Given the description of an element on the screen output the (x, y) to click on. 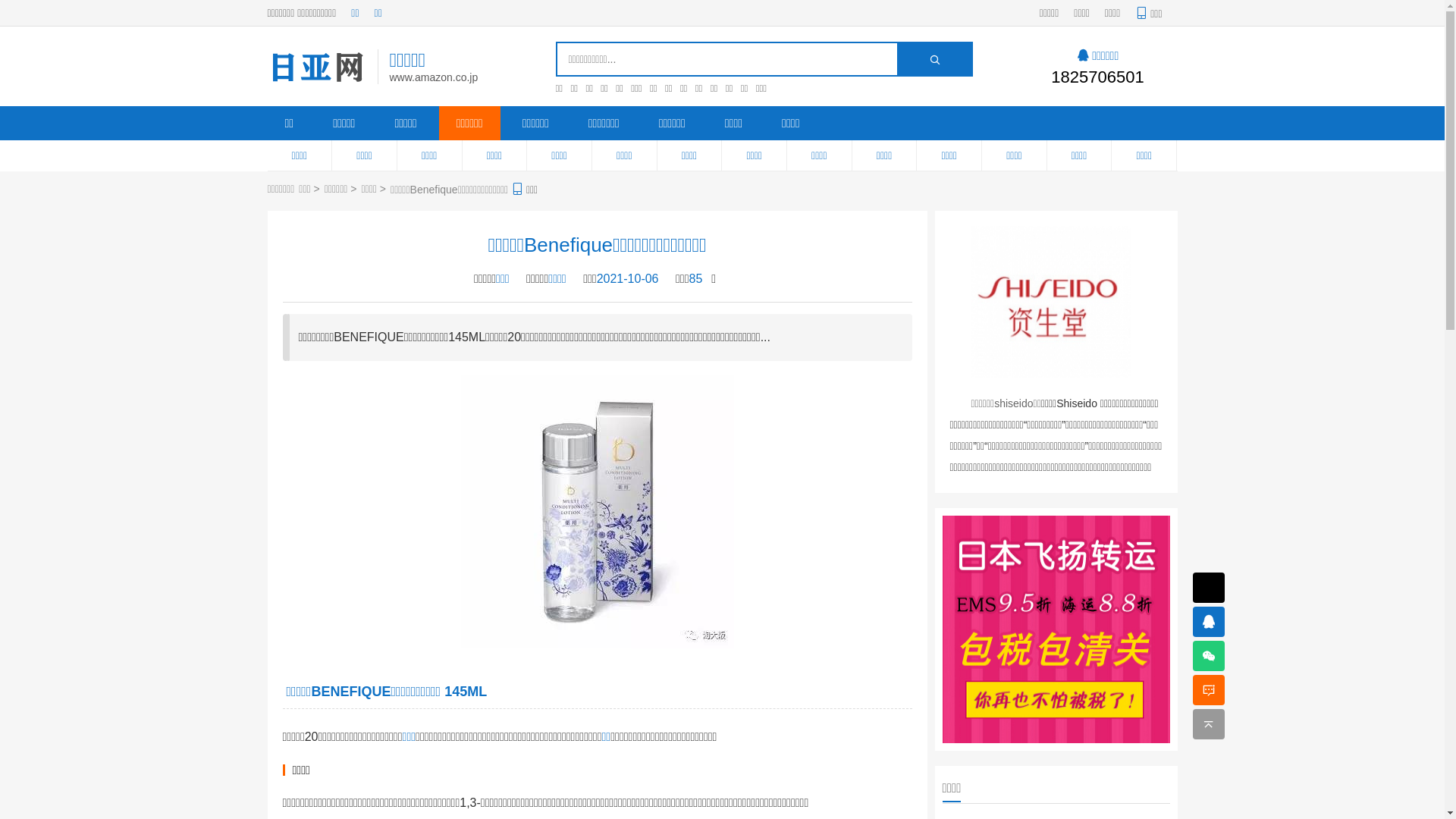
85 Element type: text (699, 278)
2021-10-06 Element type: text (627, 278)
